Given the description of an element on the screen output the (x, y) to click on. 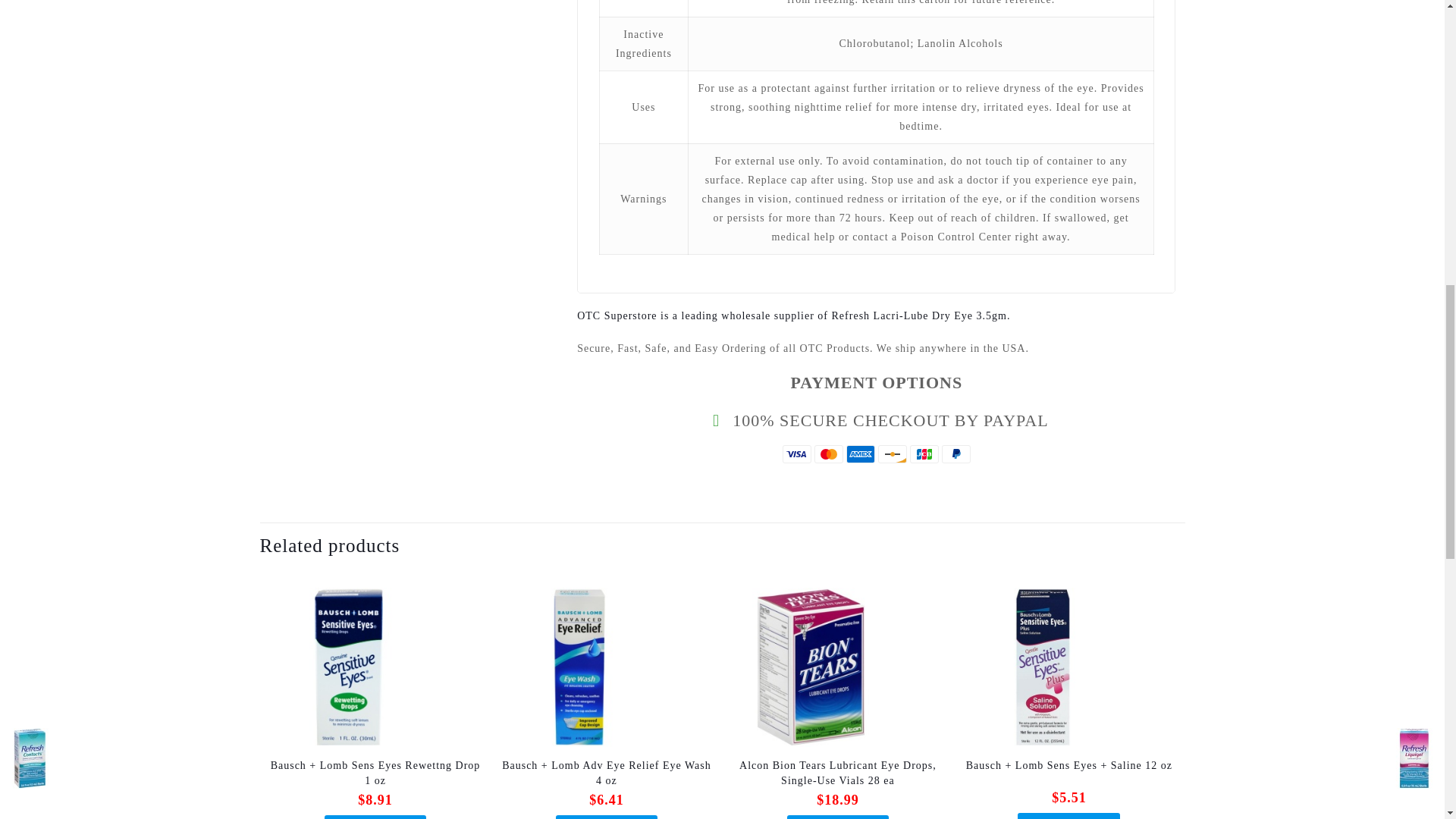
PayPal (956, 454)
Visa (796, 454)
JCB (924, 454)
Mastercard (828, 454)
American Express (860, 454)
Discover (892, 454)
